Given the description of an element on the screen output the (x, y) to click on. 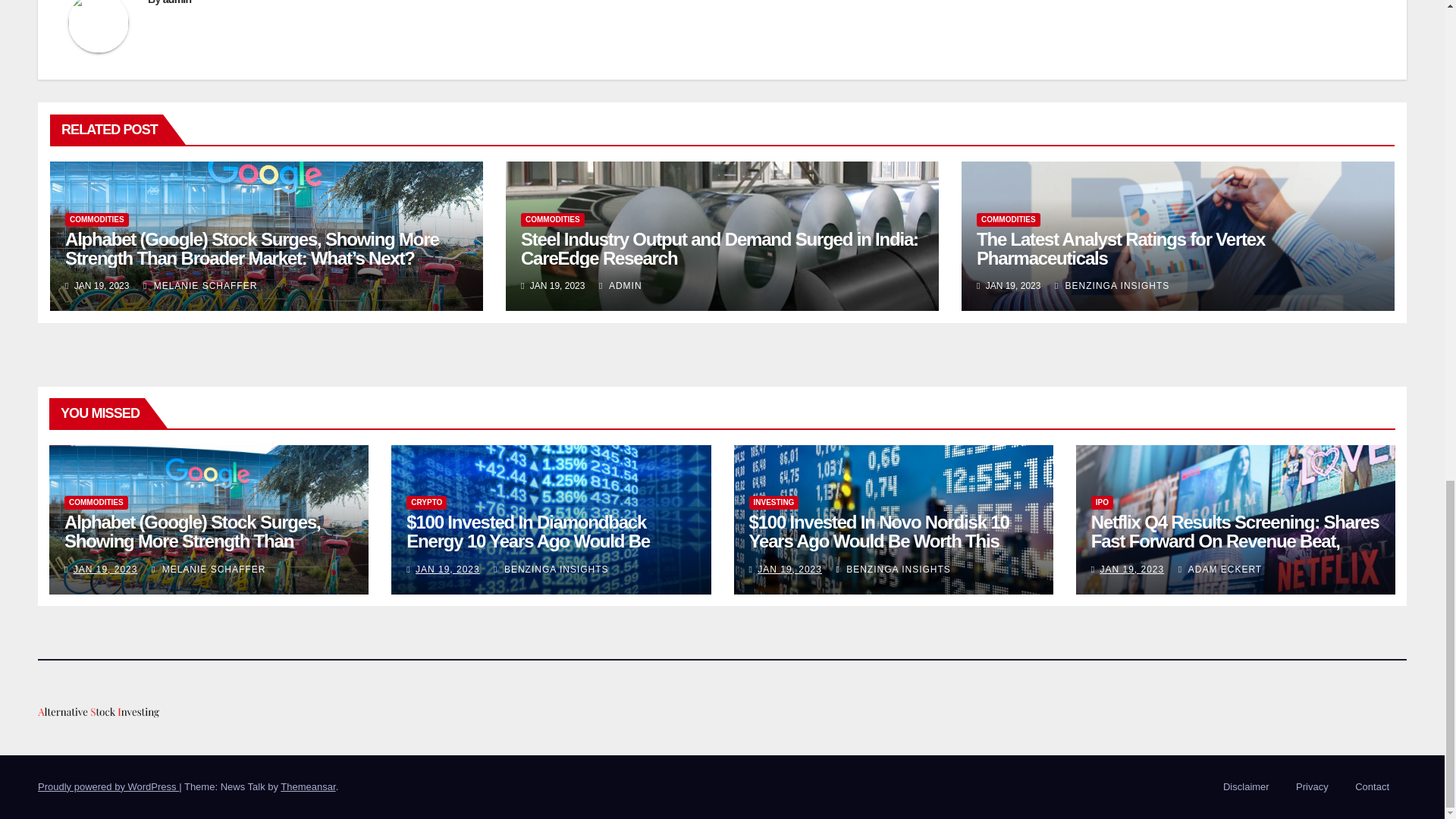
admin (177, 2)
Contact (1371, 786)
ADMIN (620, 285)
MELANIE SCHAFFER (199, 285)
COMMODITIES (1008, 219)
COMMODITIES (97, 219)
Privacy (1312, 786)
Disclaimer (1246, 786)
COMMODITIES (553, 219)
